Given the description of an element on the screen output the (x, y) to click on. 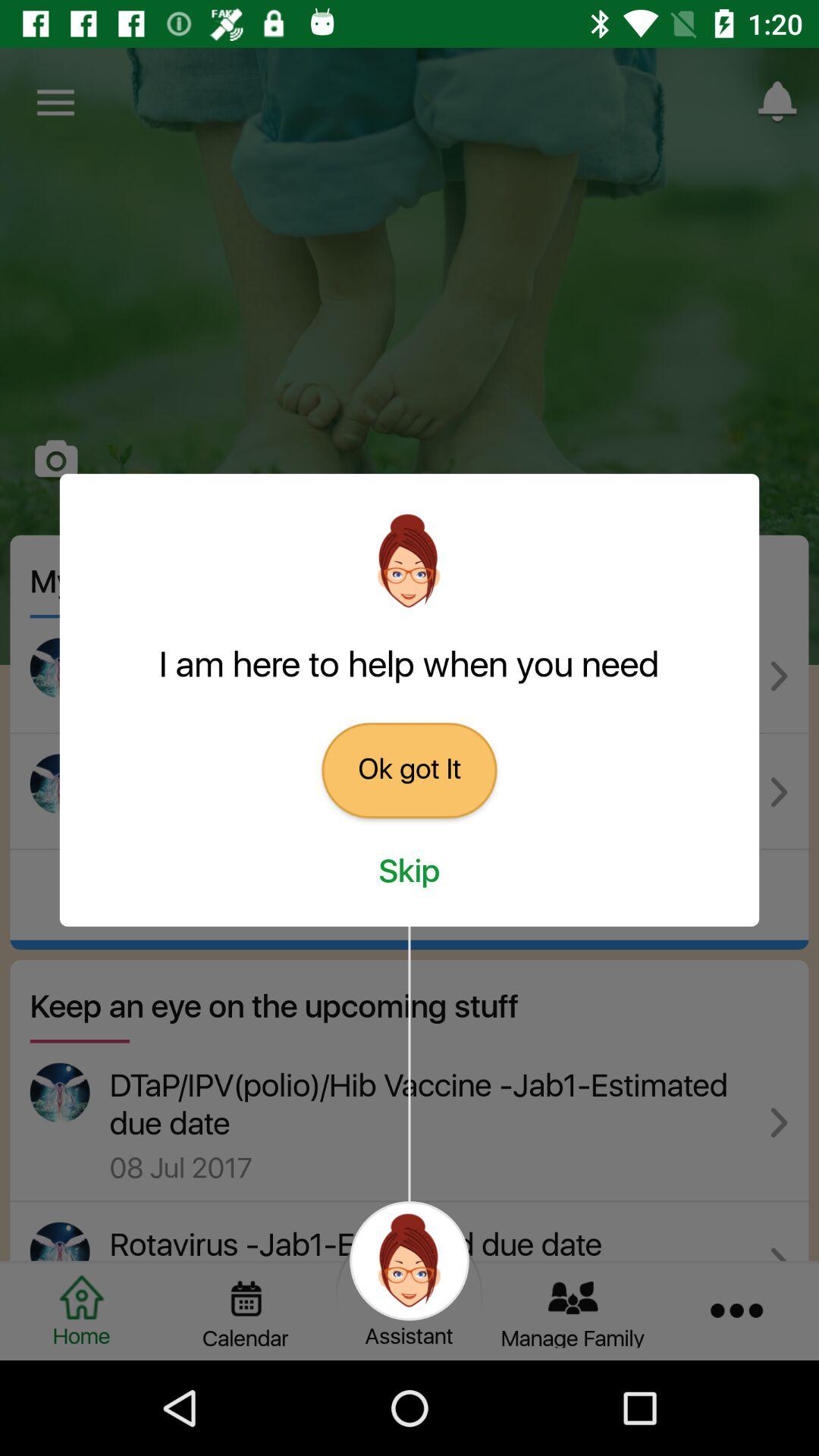
tap icon below i am here icon (409, 770)
